Given the description of an element on the screen output the (x, y) to click on. 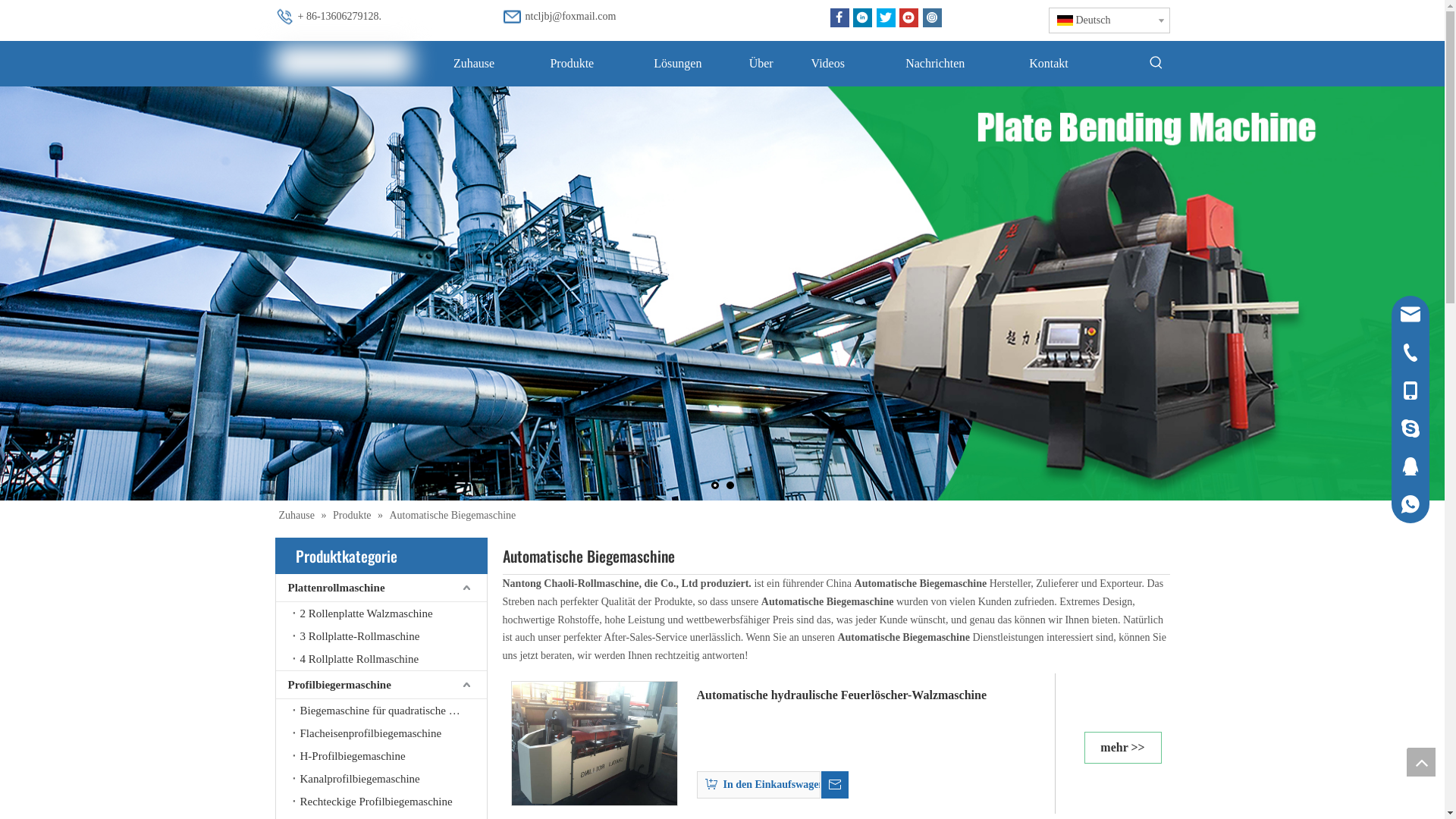
  Element type: text (833, 779)
Linkedin Element type: hover (862, 17)
Videos Element type: text (827, 63)
Produkte Element type: text (571, 63)
Youtube Element type: hover (908, 17)
mehr >> Element type: text (1122, 743)
Twitter Element type: hover (885, 17)
Kontakt Element type: text (1048, 63)
Zuhause Element type: text (473, 63)
Nachrichten Element type: text (935, 63)
Facebook Element type: hover (838, 17)
Instagram Element type: hover (931, 17)
ntcljbj@foxmail.com Element type: text (569, 15)
 In den Einkaufswagen Element type: text (757, 779)
